Given the description of an element on the screen output the (x, y) to click on. 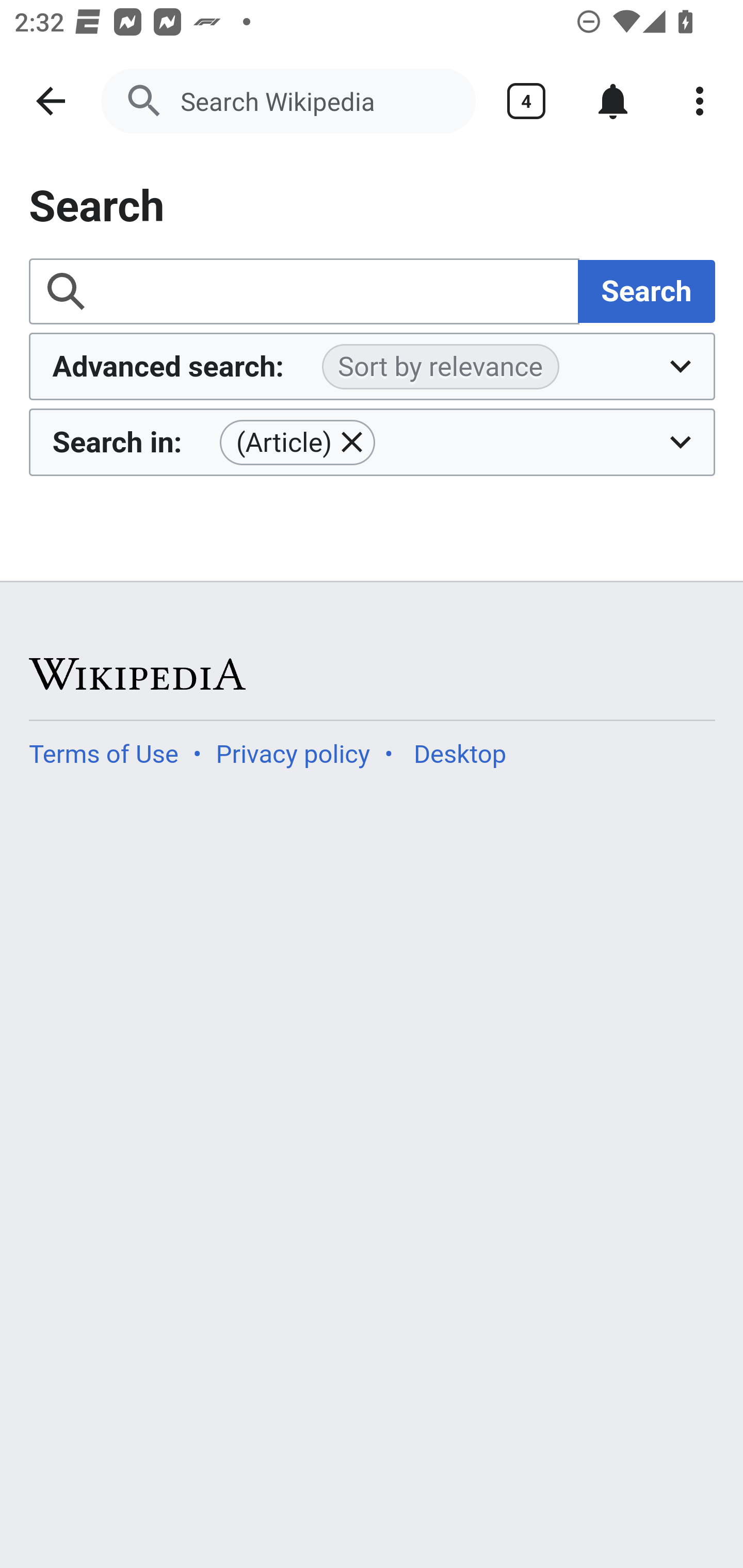
Show tabs 4 (525, 100)
Notifications (612, 100)
Navigate up (50, 101)
More options (699, 101)
Search Wikipedia (288, 100)
Search (645, 290)
Advanced search:Sort by relevance (372, 366)
Search in:(Article) Remove (372, 441)
Terms of Use (104, 753)
Privacy policy (293, 753)
Desktop (459, 753)
